Given the description of an element on the screen output the (x, y) to click on. 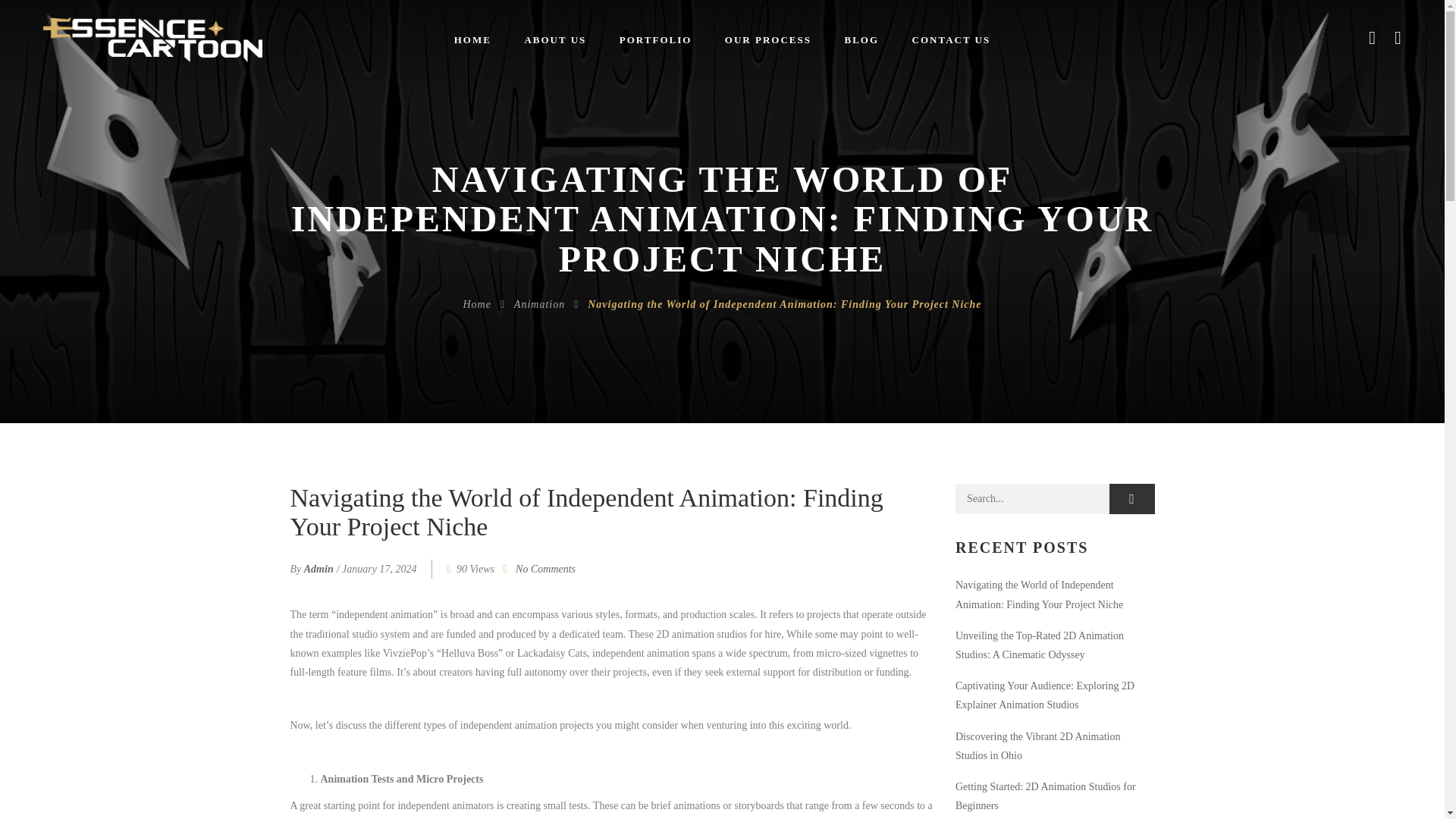
Admin (318, 568)
Animation (538, 304)
Home (476, 304)
ABOUT US (554, 39)
OUR PROCESS (768, 39)
CONTACT US (951, 39)
essencecartoon - essencecartoon (152, 39)
PORTFOLIO (655, 39)
No Comments (545, 568)
Animation (538, 304)
